Given the description of an element on the screen output the (x, y) to click on. 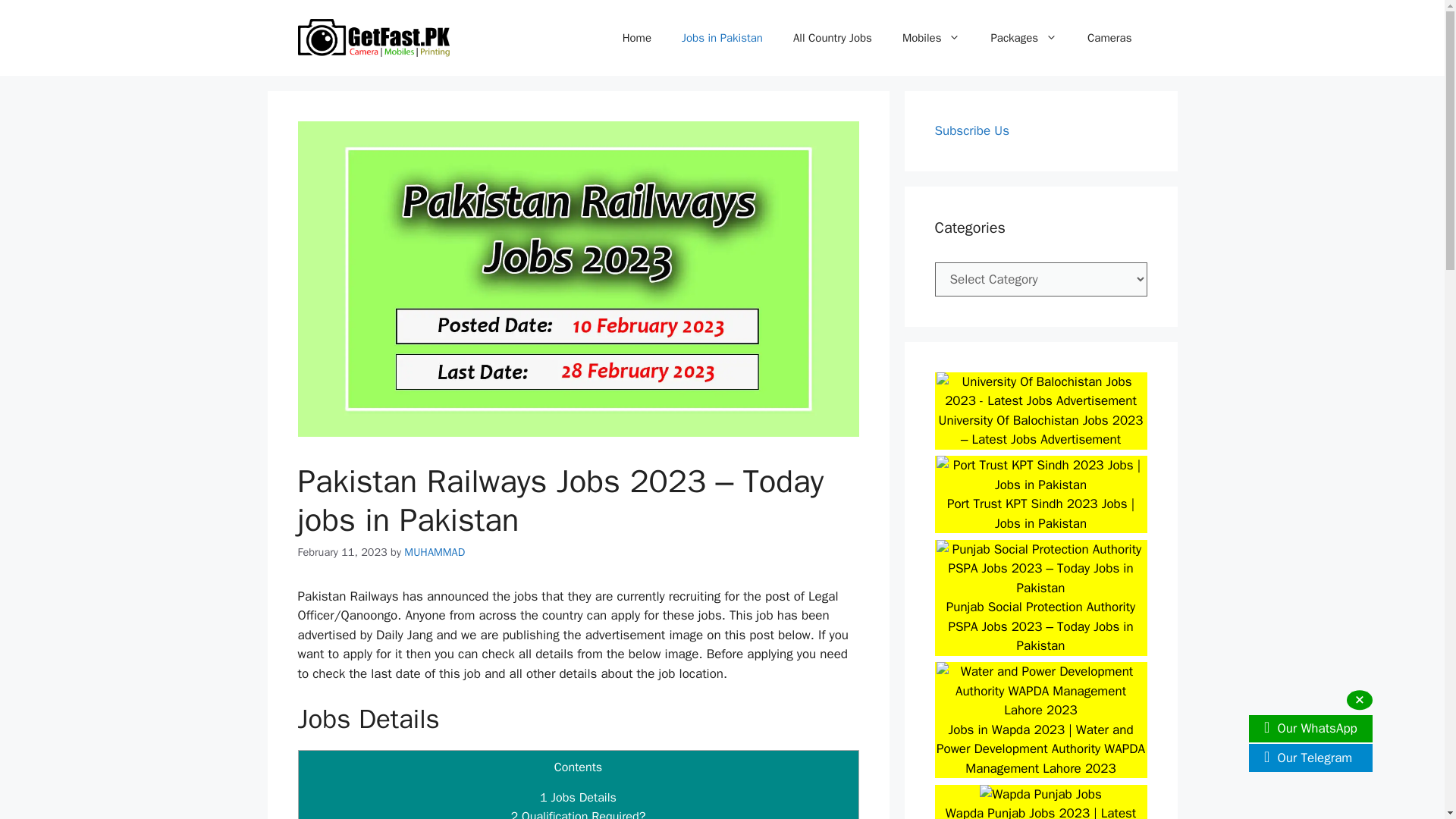
View all posts by MUHAMMAD (434, 551)
Packages (1023, 37)
Cameras (1109, 37)
2 Qualification Required? (578, 813)
Mobiles (930, 37)
Home (636, 37)
Jobs in Pakistan (721, 37)
All Country Jobs (831, 37)
Subscribe Us (971, 130)
1 Jobs Details (577, 797)
